Given the description of an element on the screen output the (x, y) to click on. 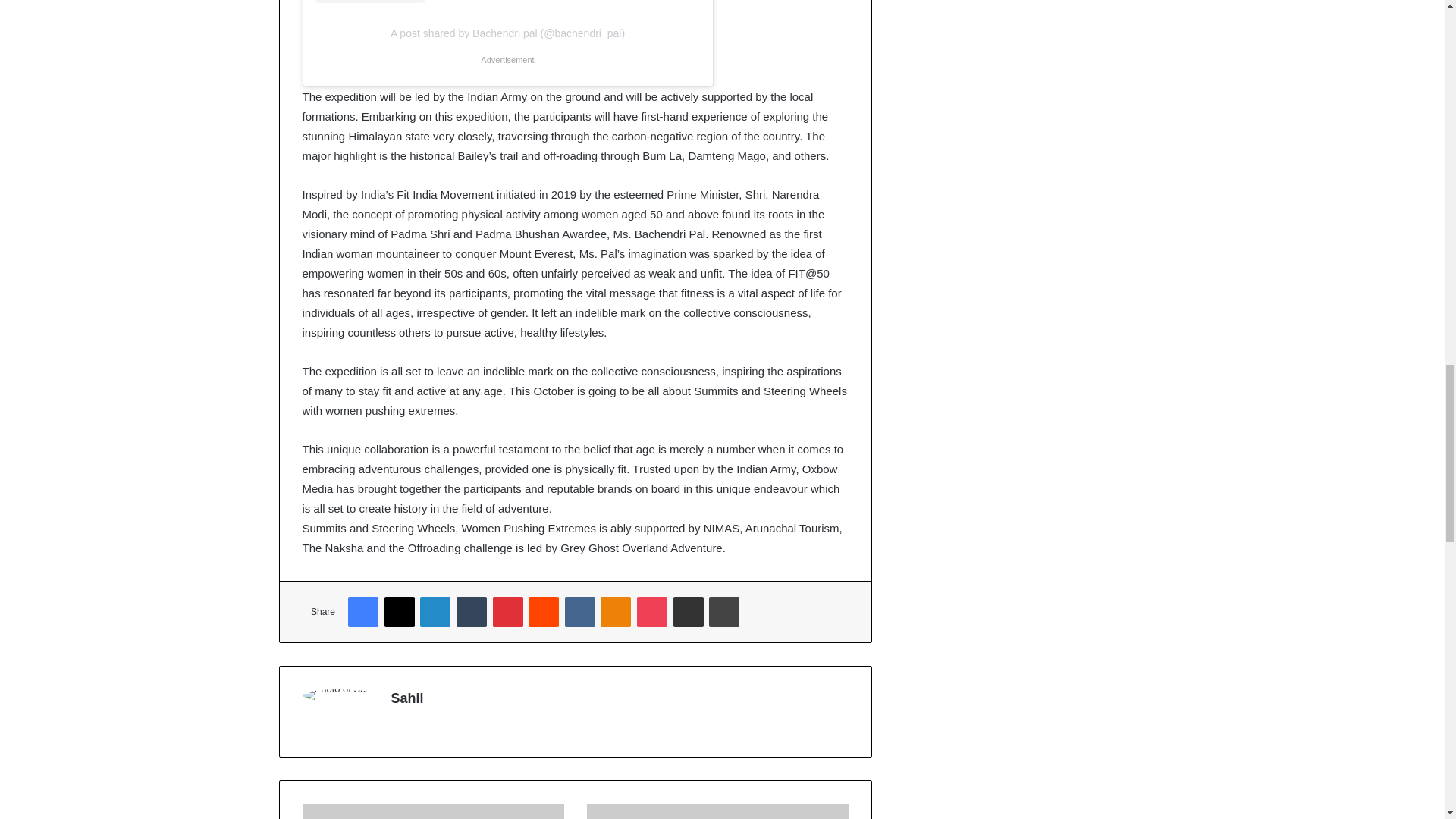
Pocket (651, 612)
Reddit (543, 612)
X (399, 612)
Print (724, 612)
Facebook (362, 612)
LinkedIn (434, 612)
Tumblr (471, 612)
VKontakte (579, 612)
Pinterest (507, 612)
Odnoklassniki (614, 612)
Share via Email (687, 612)
